Given the description of an element on the screen output the (x, y) to click on. 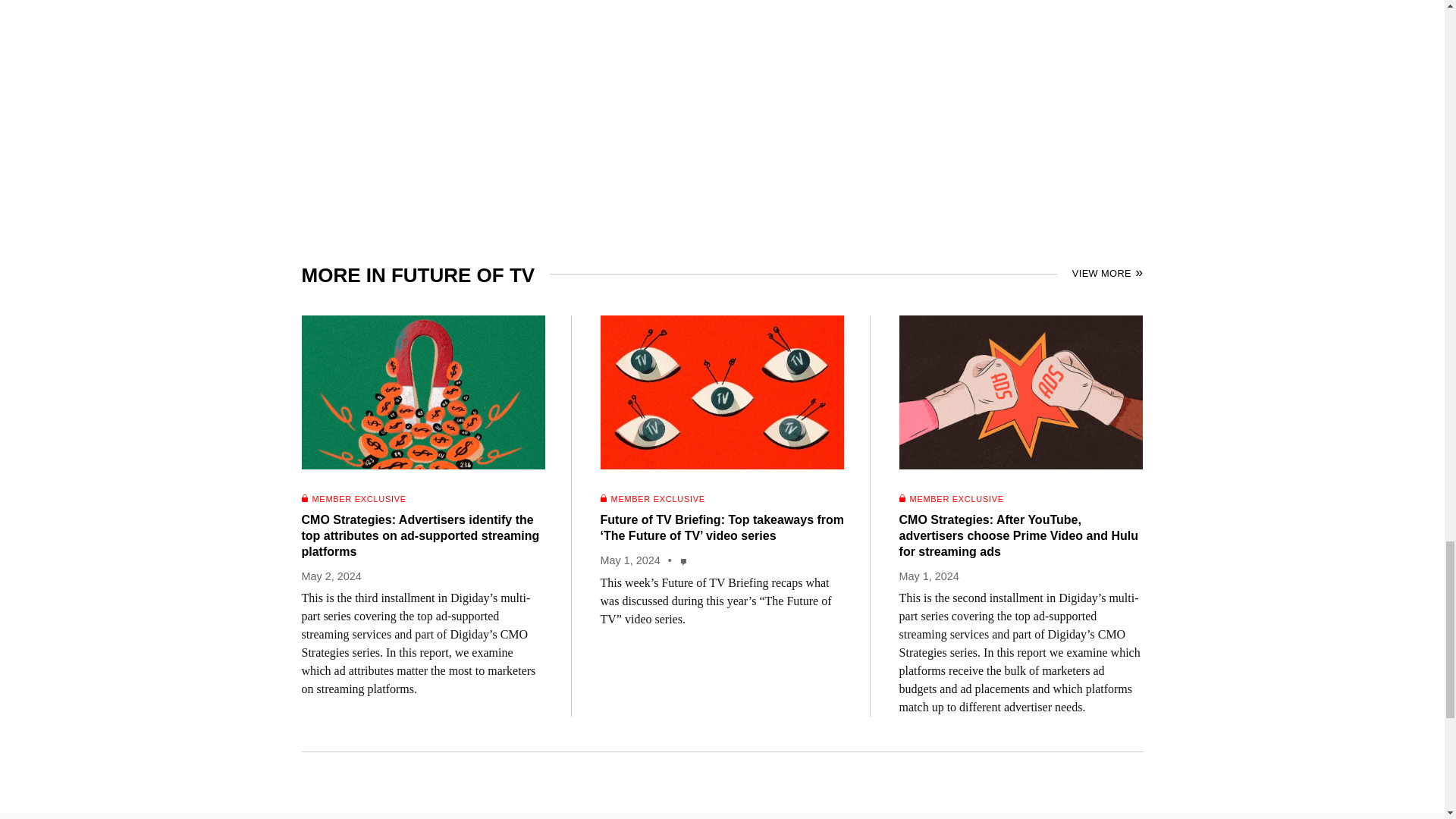
Join the conversation (683, 560)
